Given the description of an element on the screen output the (x, y) to click on. 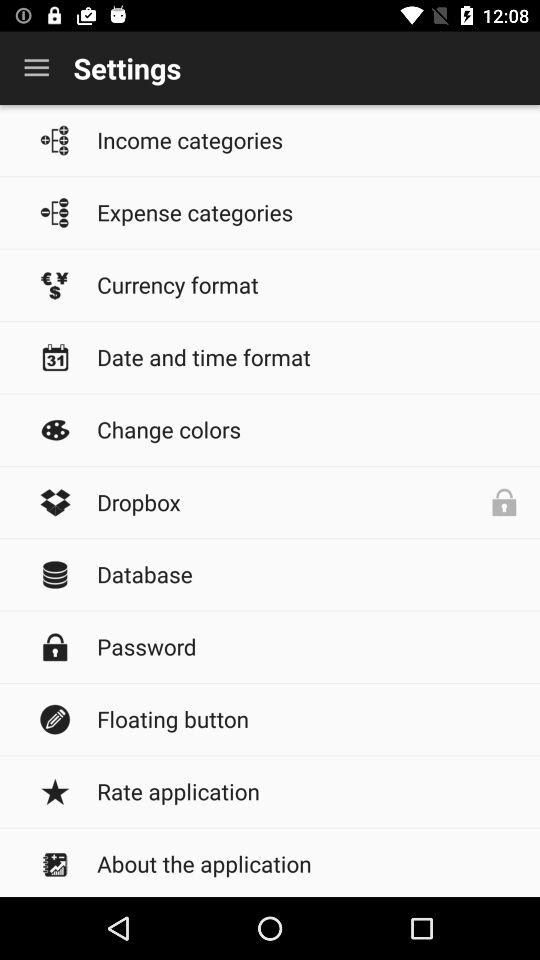
choose the icon below income categories (308, 212)
